Given the description of an element on the screen output the (x, y) to click on. 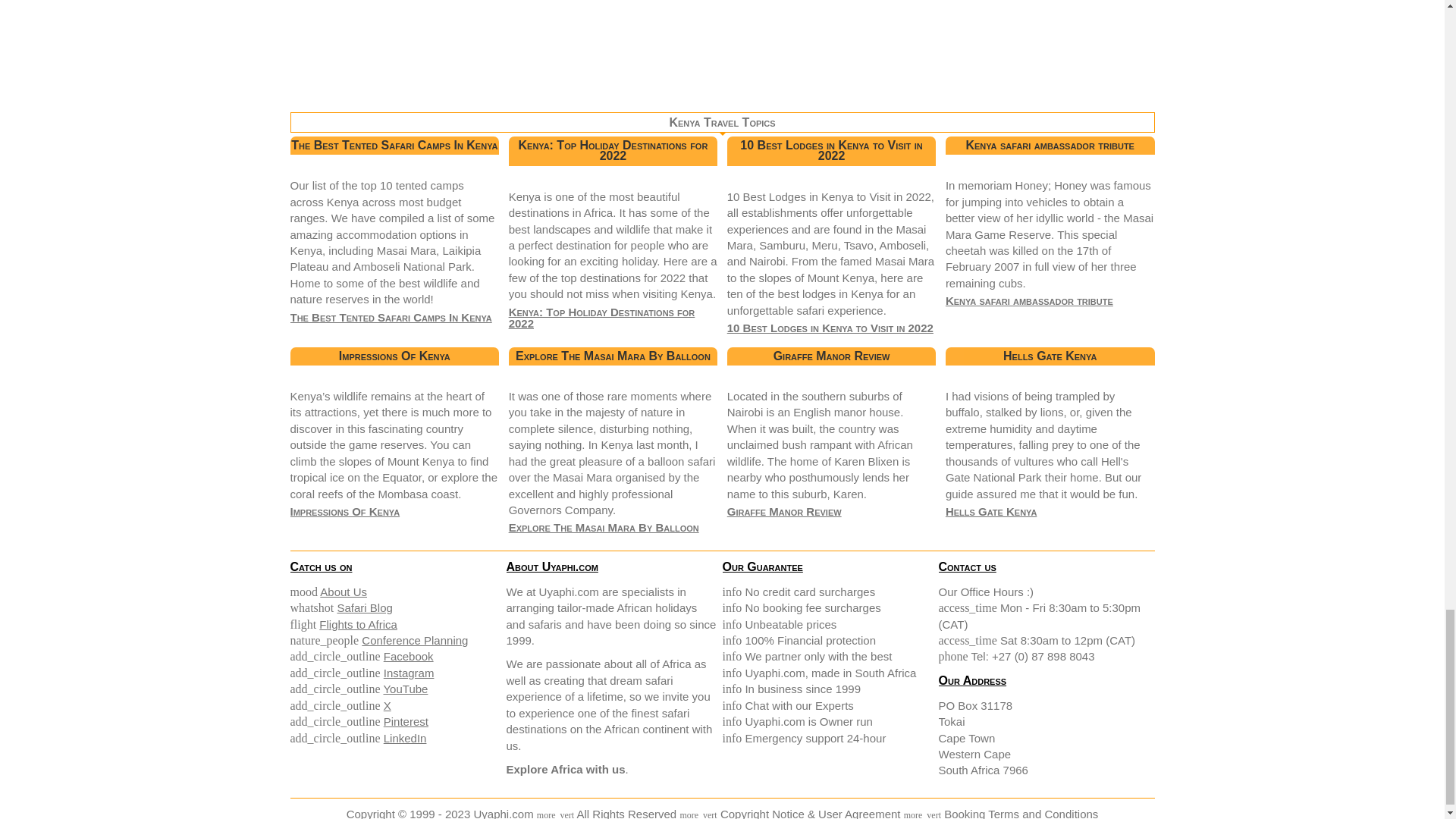
Impressions Of Kenya (343, 511)
Explore The Masai Mara By Balloon (603, 526)
About Us (343, 591)
African Safari Blog (363, 607)
Giraffe Manor Review (783, 511)
Kenya: Top Holiday Destinations for 2022 (601, 317)
The Best Tented Safari Camps In Kenya (390, 317)
Kenya safari ambassador tribute (1028, 300)
10 Best Lodges in Kenya to Visit in 2022 (829, 327)
